Given the description of an element on the screen output the (x, y) to click on. 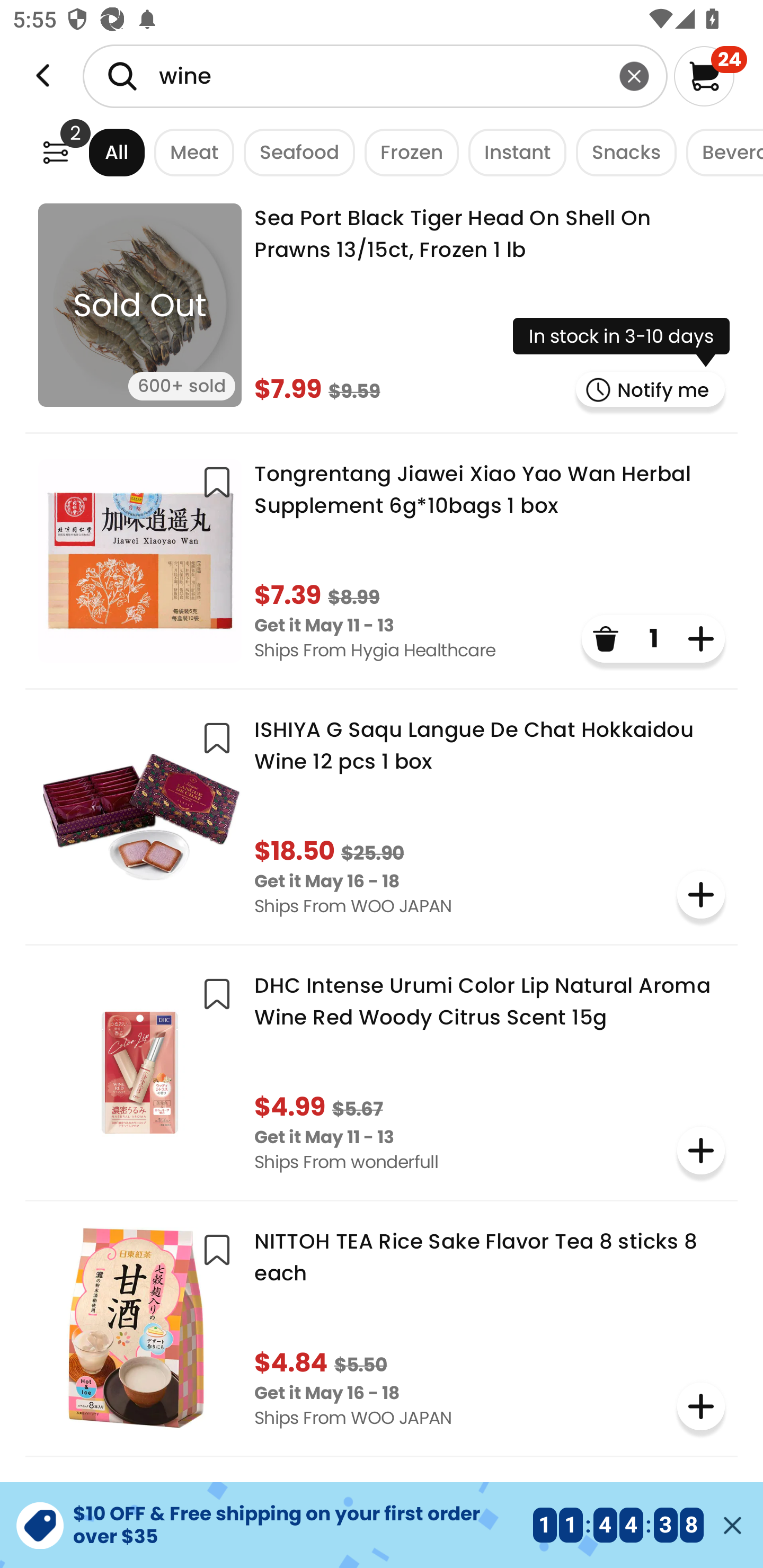
wine (374, 75)
24 (709, 75)
Weee! (42, 76)
Weee! (55, 151)
All (99, 151)
Meat (189, 151)
Seafood (294, 151)
Frozen (406, 151)
Instant (512, 151)
Snacks (621, 151)
Beverages (719, 151)
In stock in 3-10 days (620, 342)
Notify me (650, 388)
